Given the description of an element on the screen output the (x, y) to click on. 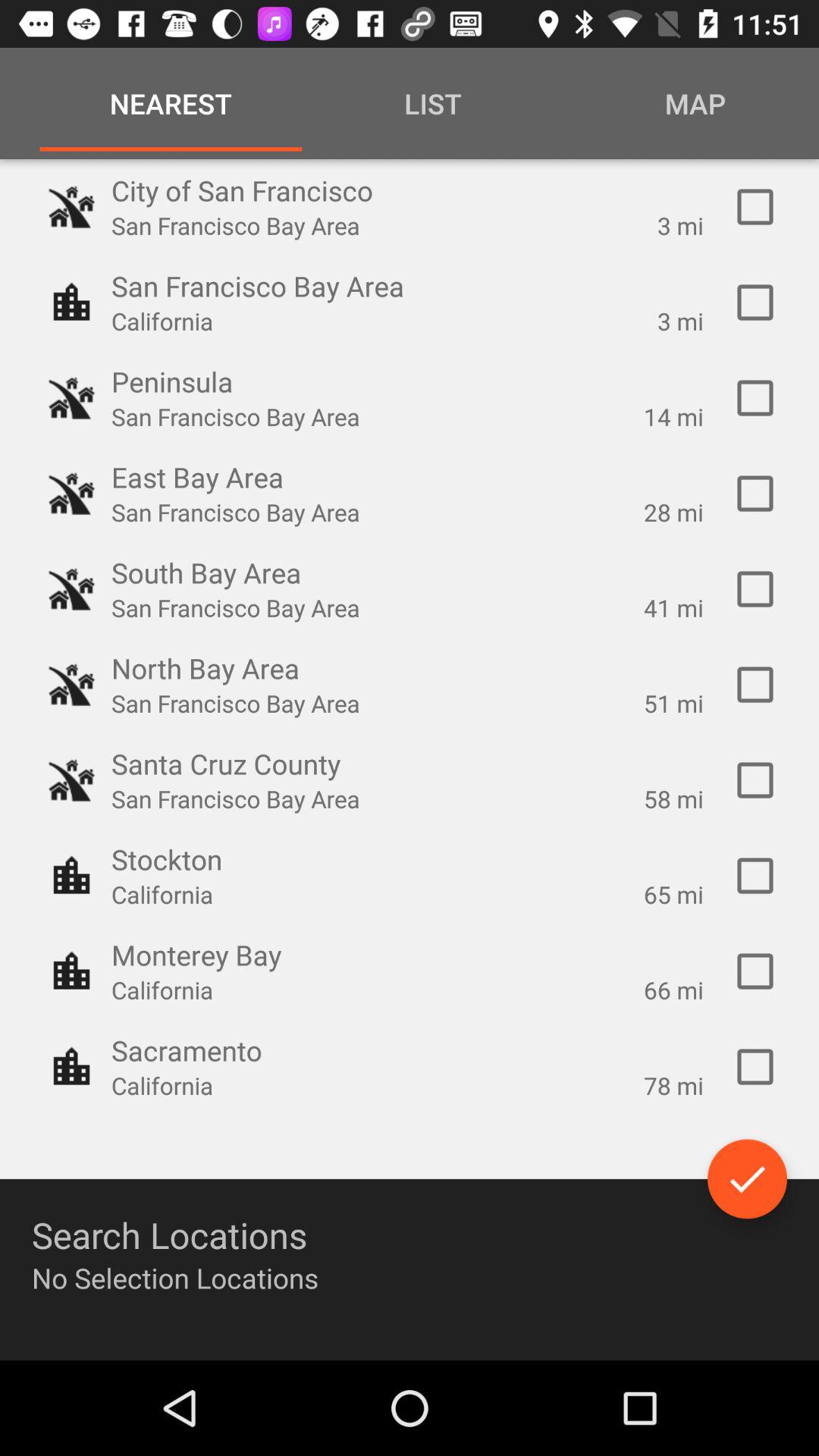
41 miles within south bay area (755, 589)
